Given the description of an element on the screen output the (x, y) to click on. 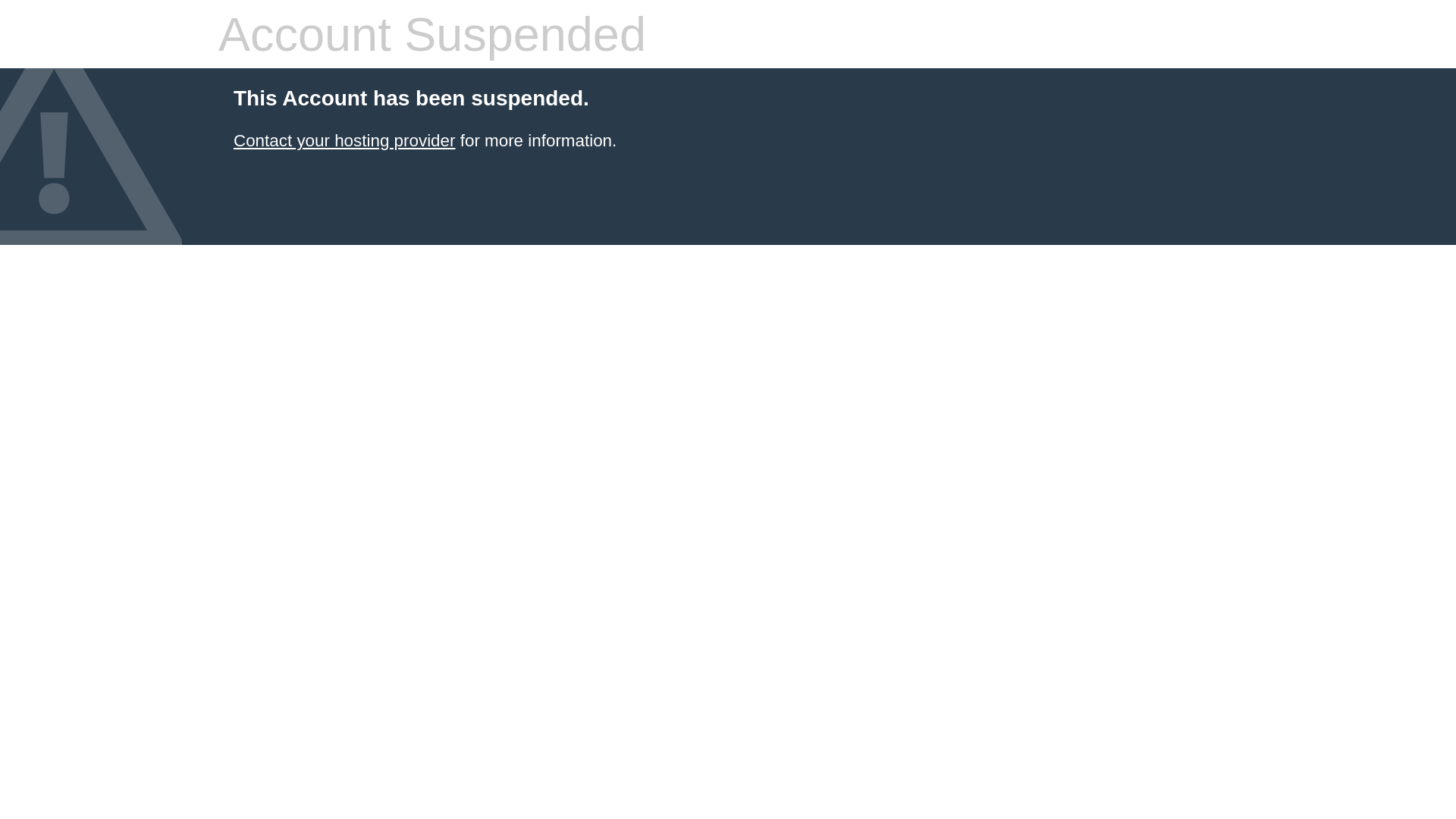
Contact your hosting provider Element type: text (344, 140)
